Given the description of an element on the screen output the (x, y) to click on. 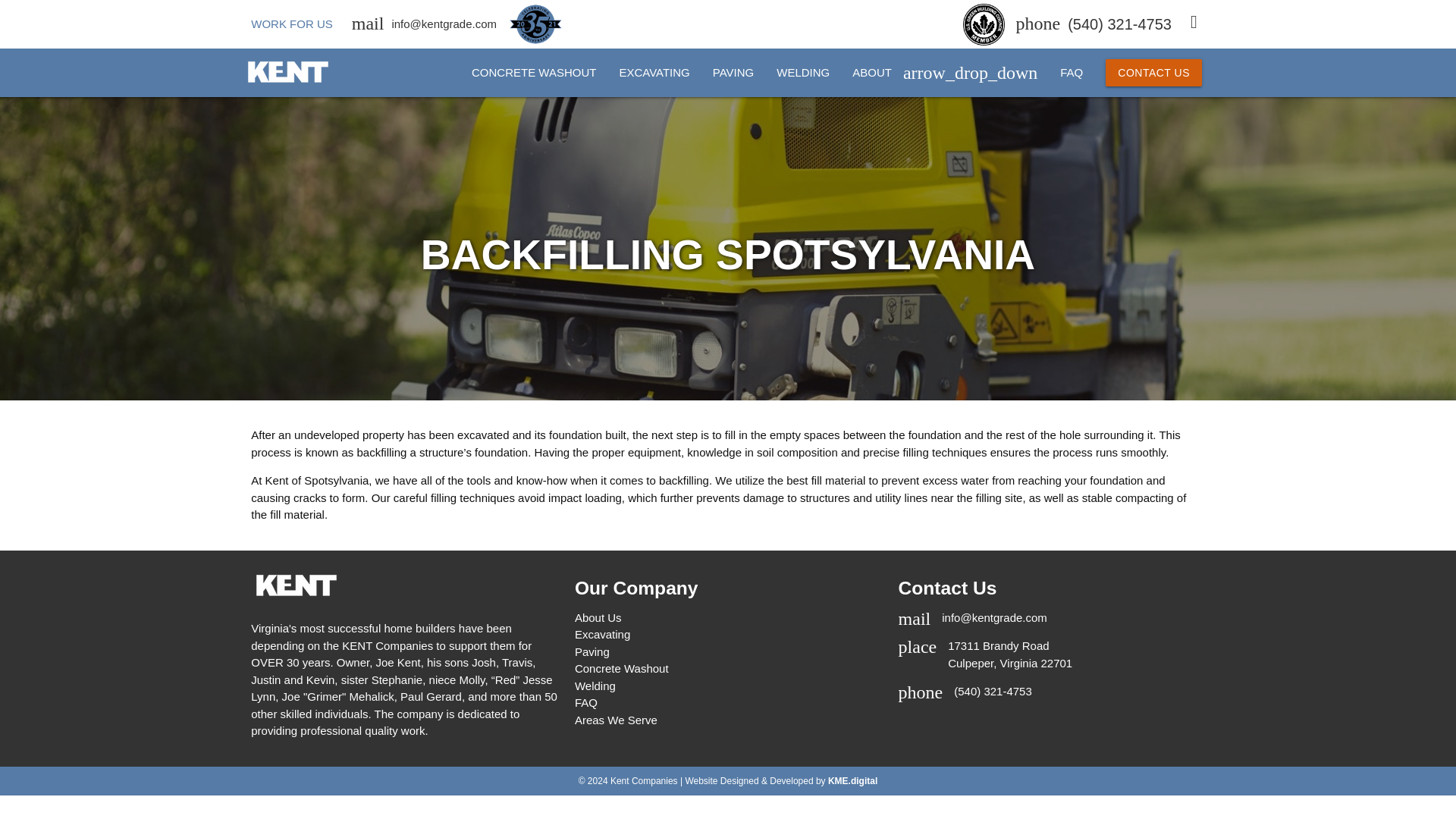
Email Address (443, 23)
KME.digital (852, 779)
Concrete Washout (621, 667)
WORK FOR US (291, 23)
CONCRETE WASHOUT (533, 72)
Paving (733, 72)
FAQ (1071, 72)
PAVING (733, 72)
CONTACT US (1009, 654)
Excavating (1153, 72)
Contact Us (653, 72)
Facebook (1153, 72)
Kent Companies Logo (1198, 23)
Concrete Washout (288, 79)
